Given the description of an element on the screen output the (x, y) to click on. 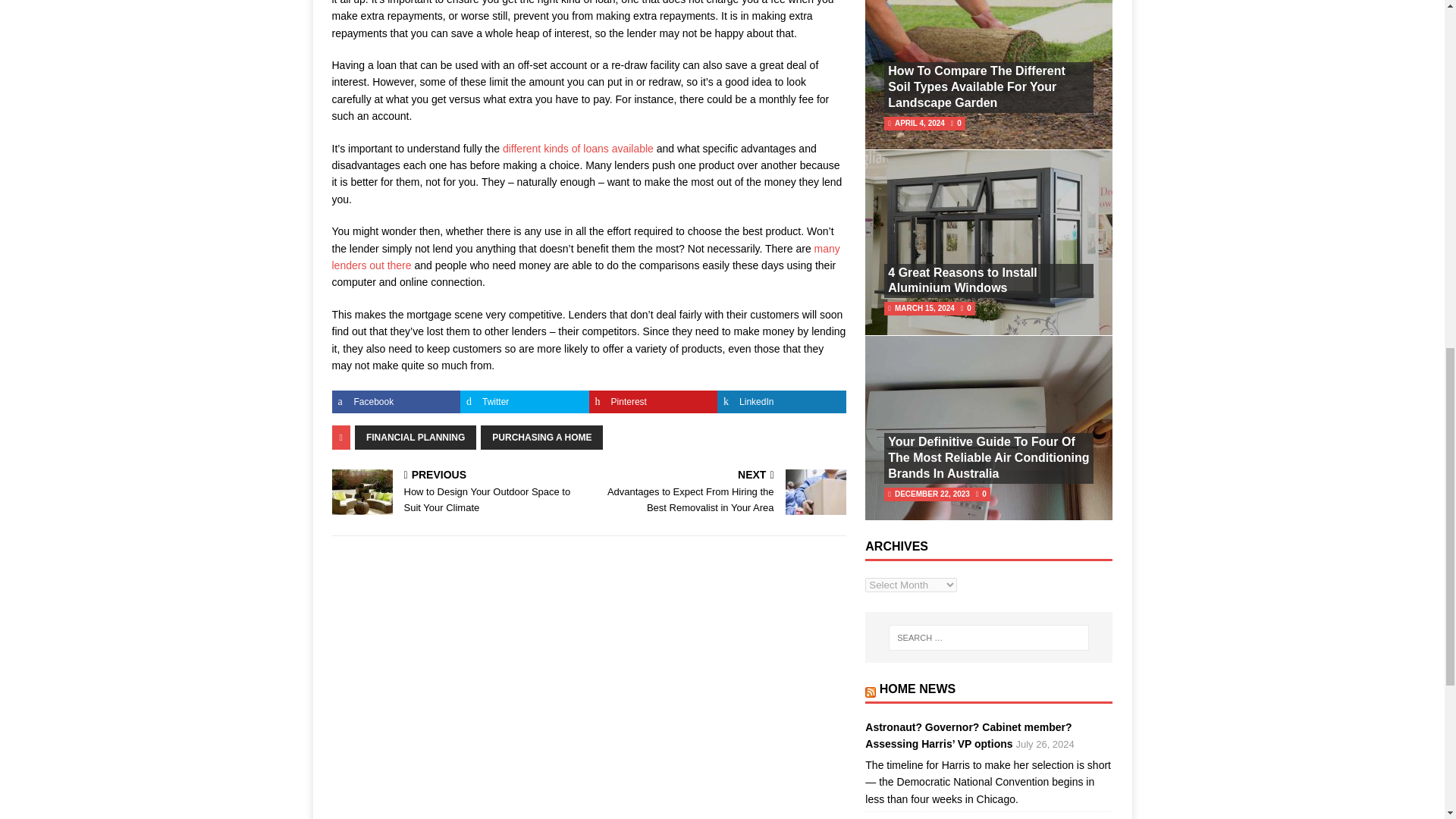
4 Great Reasons to Install Aluminium Windows (962, 280)
